Given the description of an element on the screen output the (x, y) to click on. 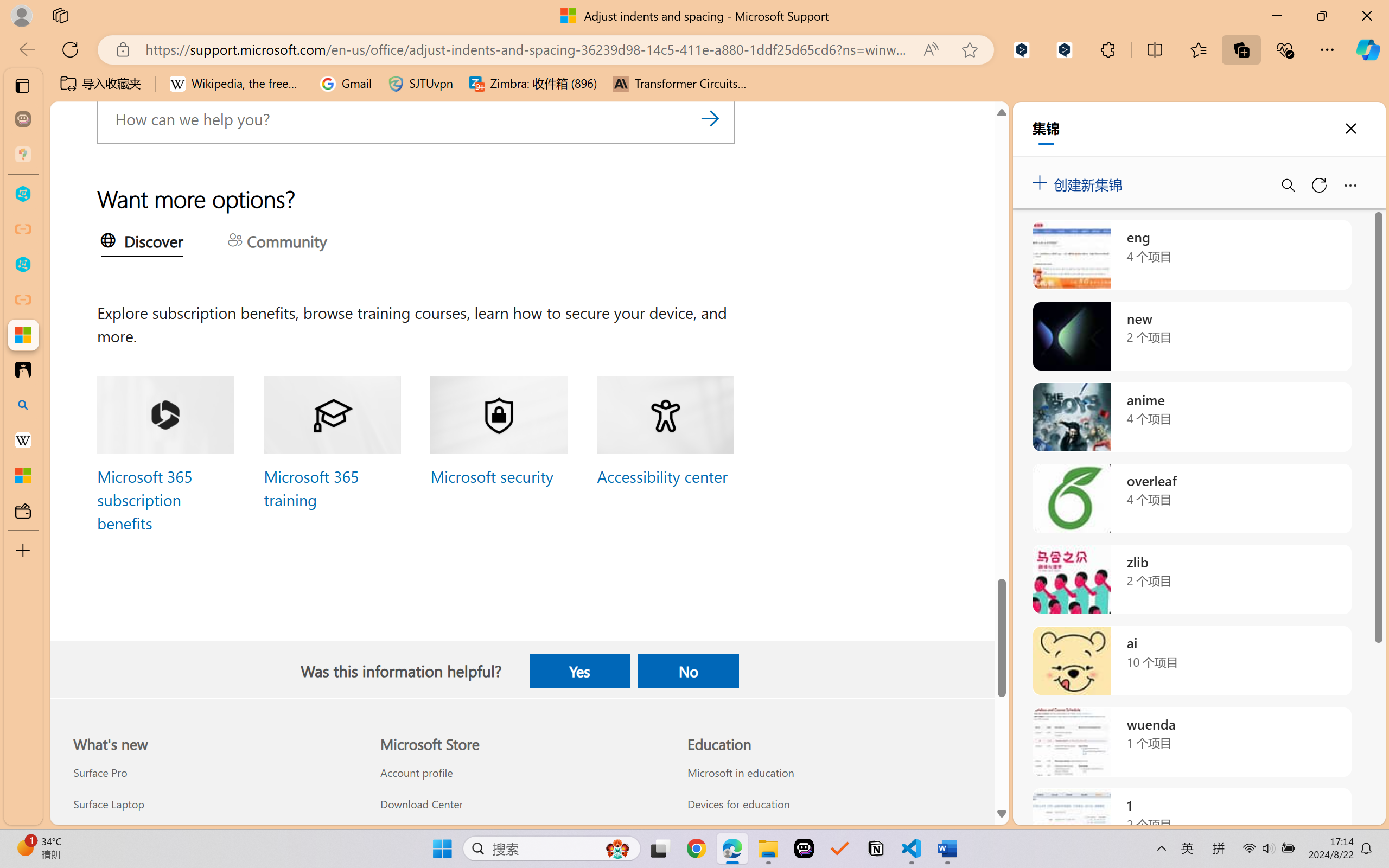
wangyian_dsw - DSW (22, 194)
Surface Pro (214, 772)
Accessibility center (660, 475)
Surface Laptop (214, 803)
Earth - Wikipedia (22, 440)
